Given the description of an element on the screen output the (x, y) to click on. 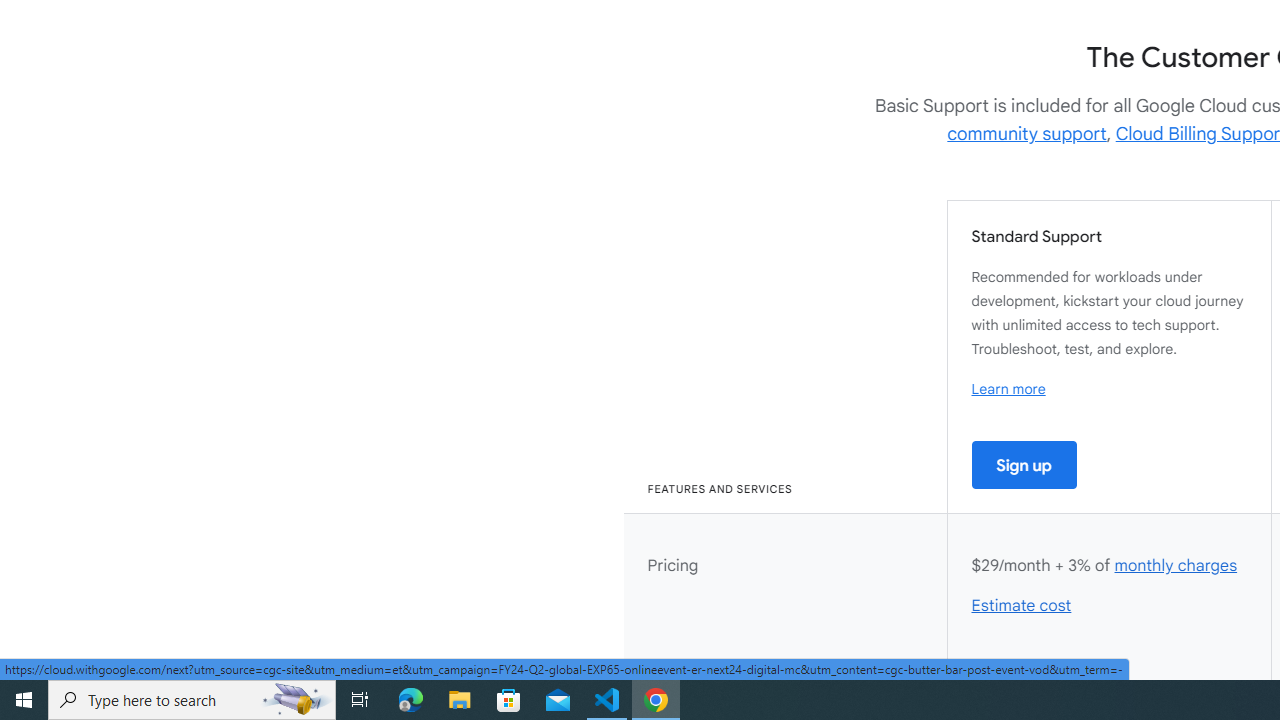
community support (1027, 133)
Sign up (1023, 464)
Learn more (1008, 389)
monthly charges (1175, 565)
Estimate cost (1021, 606)
